Given the description of an element on the screen output the (x, y) to click on. 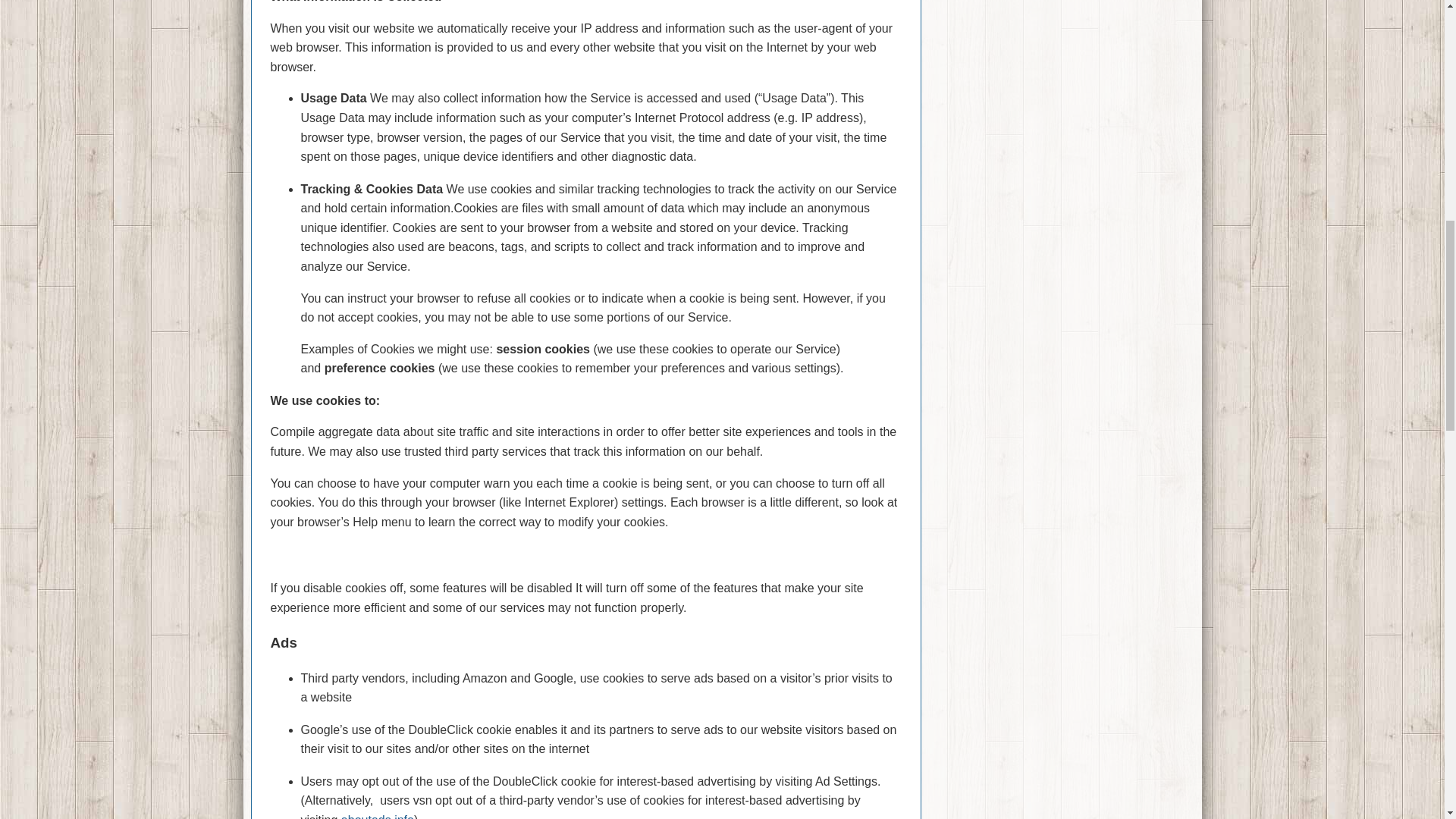
aboutads.info (376, 816)
